Given the description of an element on the screen output the (x, y) to click on. 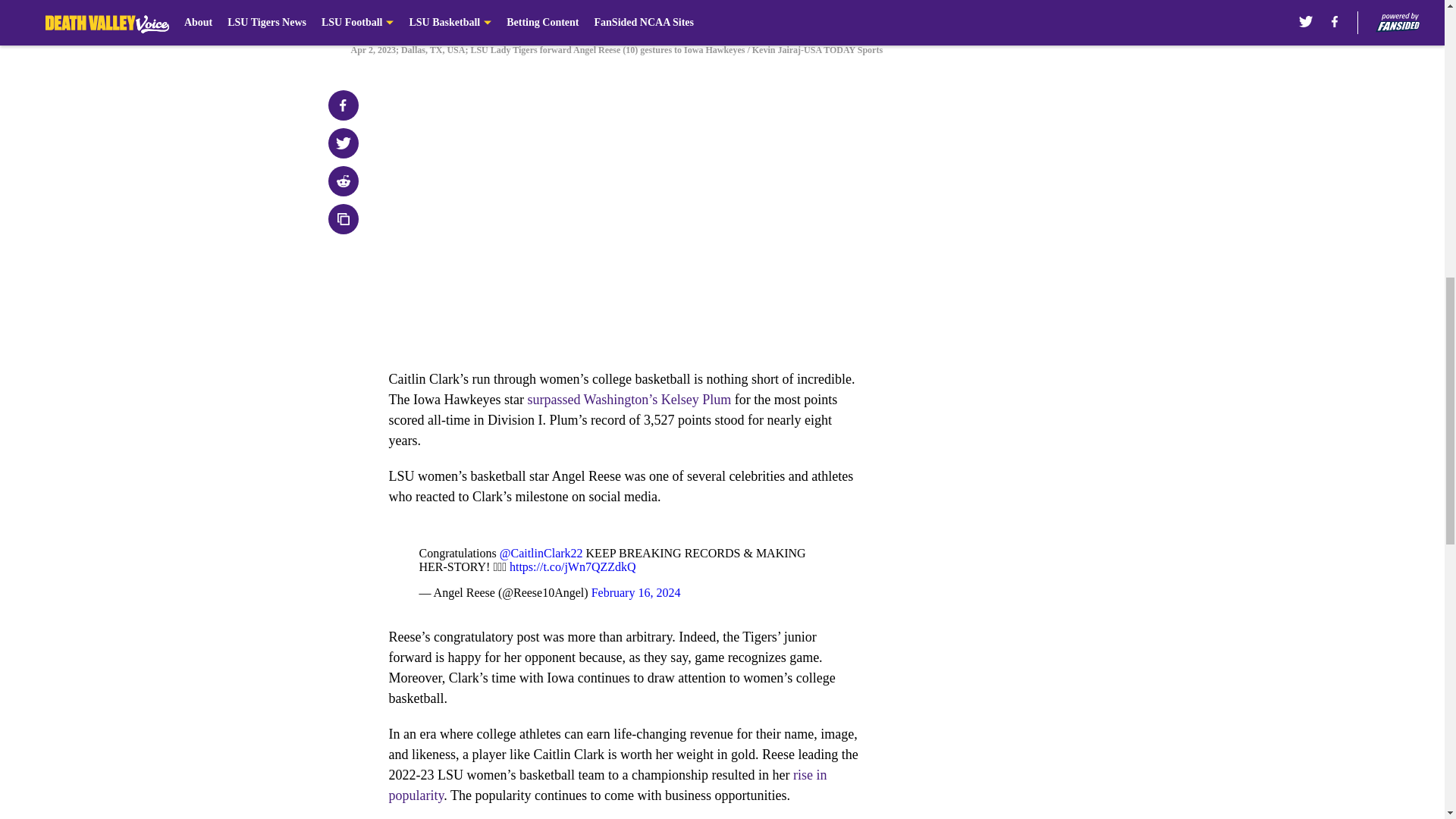
rise in popularity (607, 785)
February 16, 2024 (636, 592)
